Given the description of an element on the screen output the (x, y) to click on. 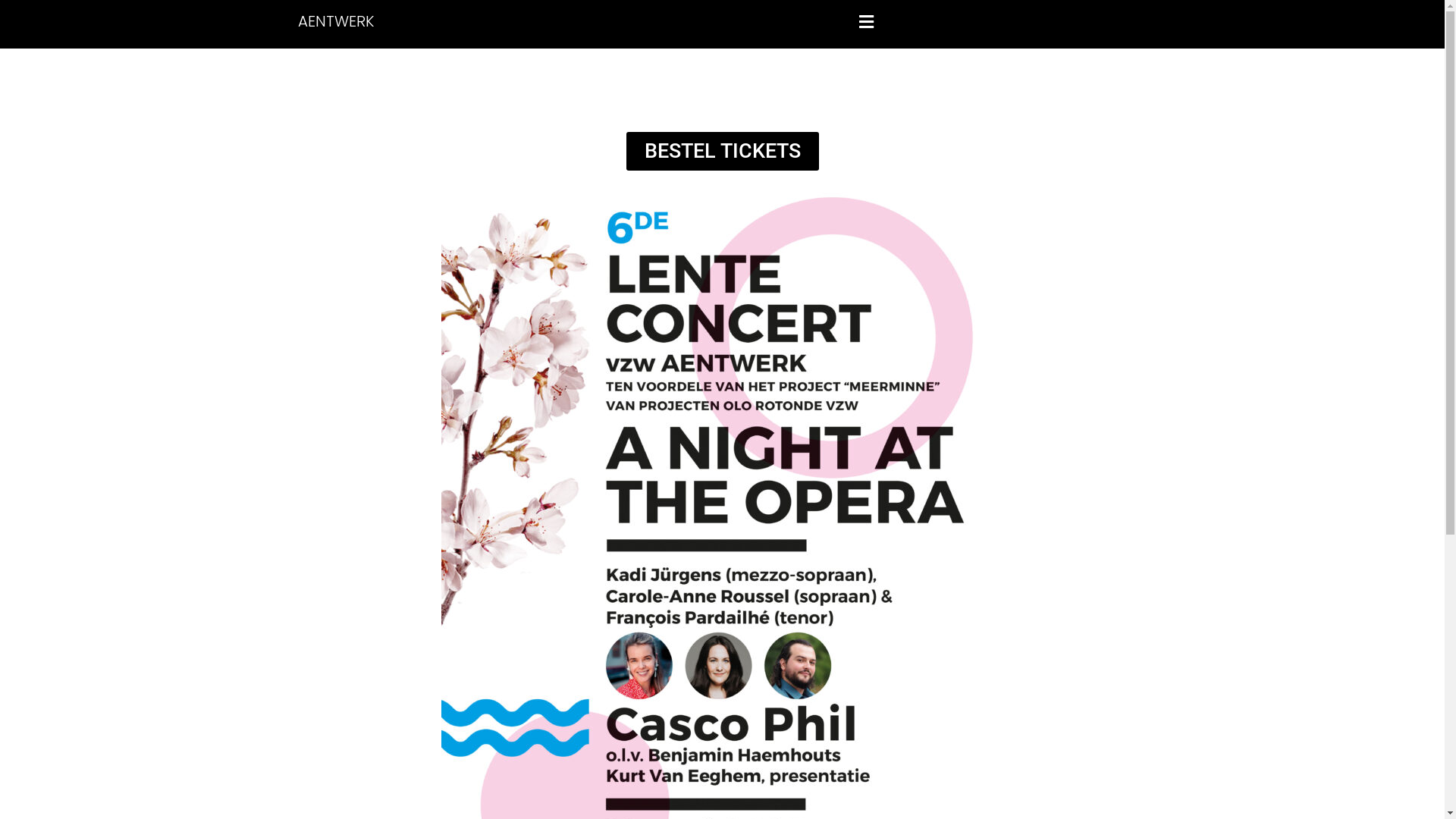
AENTWERK Element type: text (433, 20)
BESTEL TICKETS Element type: text (722, 150)
